Given the description of an element on the screen output the (x, y) to click on. 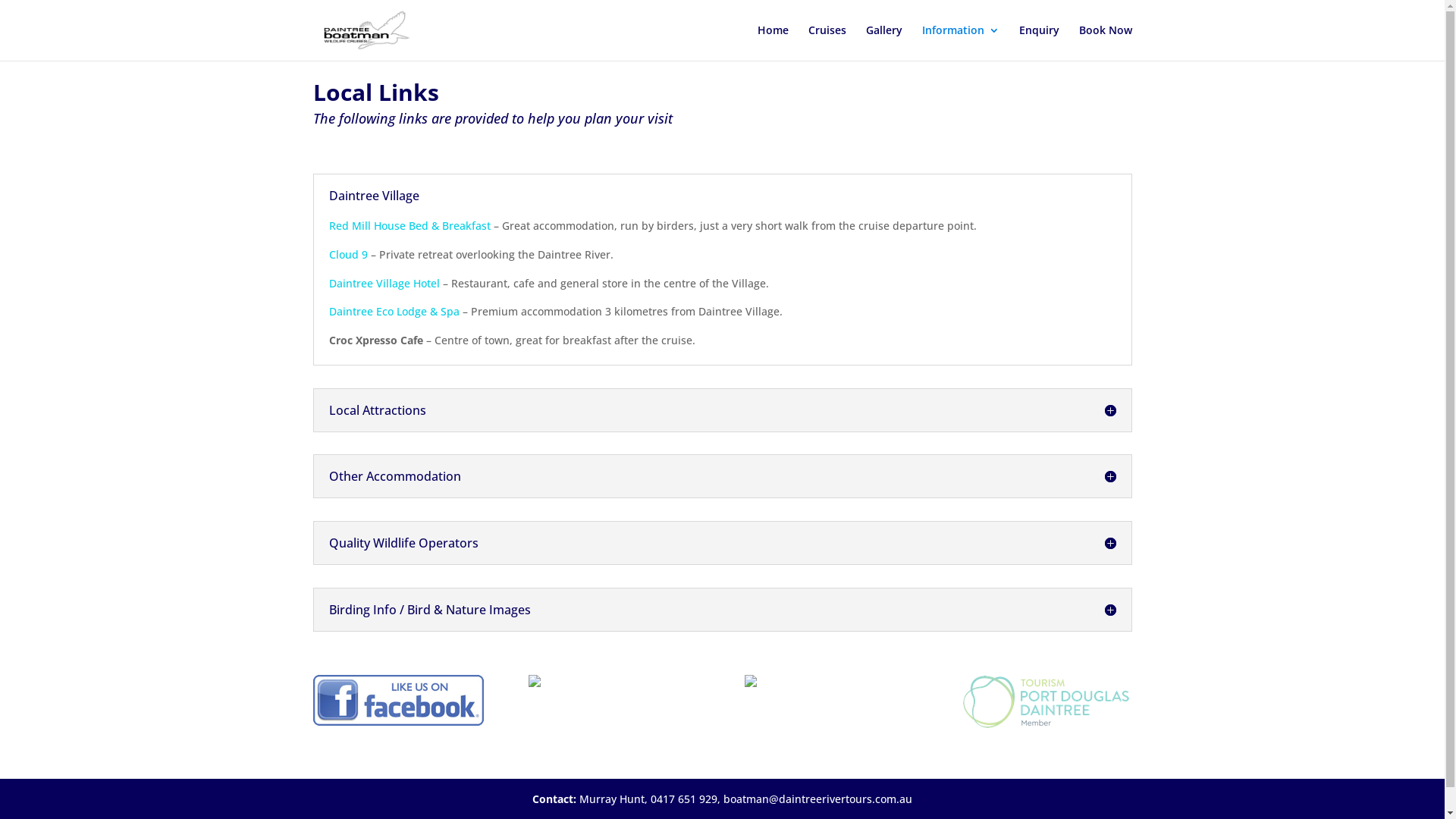
Gallery Element type: text (884, 42)
Enquiry Element type: text (1039, 42)
Cloud 9 Element type: text (348, 254)
Information Element type: text (960, 42)
Daintree Village Hotel Element type: text (384, 283)
Home Element type: text (771, 42)
Cruises Element type: text (827, 42)
Red Mill House Bed & Breakfast Element type: text (409, 225)
Daintree Eco Lodge & Spa Element type: text (394, 311)
boatman@daintreerivertours.com.au Element type: text (817, 798)
Book Now Element type: text (1104, 42)
